Given the description of an element on the screen output the (x, y) to click on. 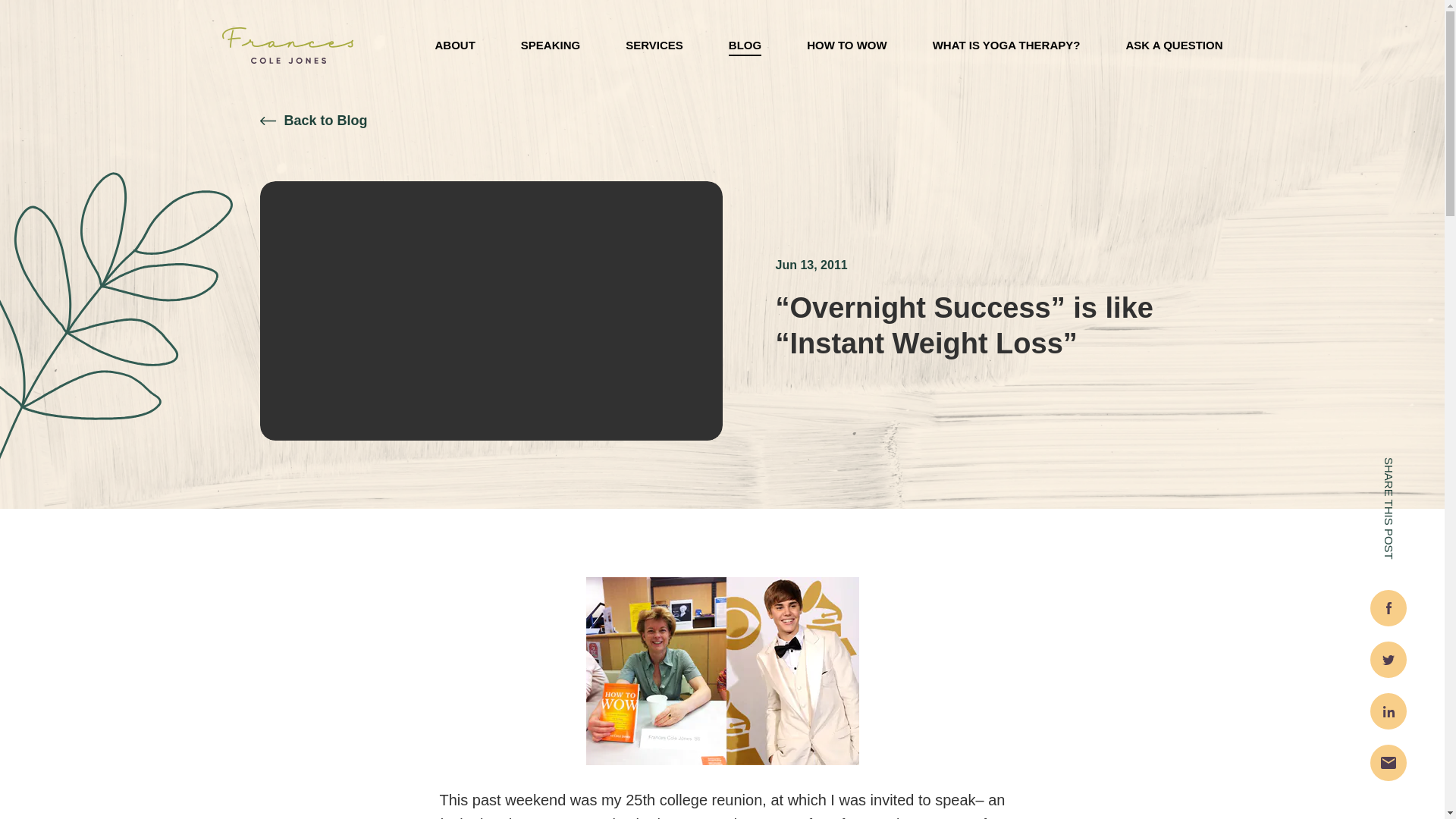
Tweet (1388, 659)
Back to Blog (312, 138)
Frances Cole Jones (286, 45)
Send to Friend (1388, 762)
BLOG (745, 45)
SPEAKING (550, 45)
Share on LinkedIn (1388, 710)
SERVICES (654, 45)
ASK A QUESTION (1174, 45)
HOW TO WOW (846, 45)
Frances Cole Jones (286, 45)
ABOUT (455, 45)
WHAT IS YOGA THERAPY? (1006, 45)
Share on Facebook (1388, 607)
CT-Coll-author-event (722, 670)
